Given the description of an element on the screen output the (x, y) to click on. 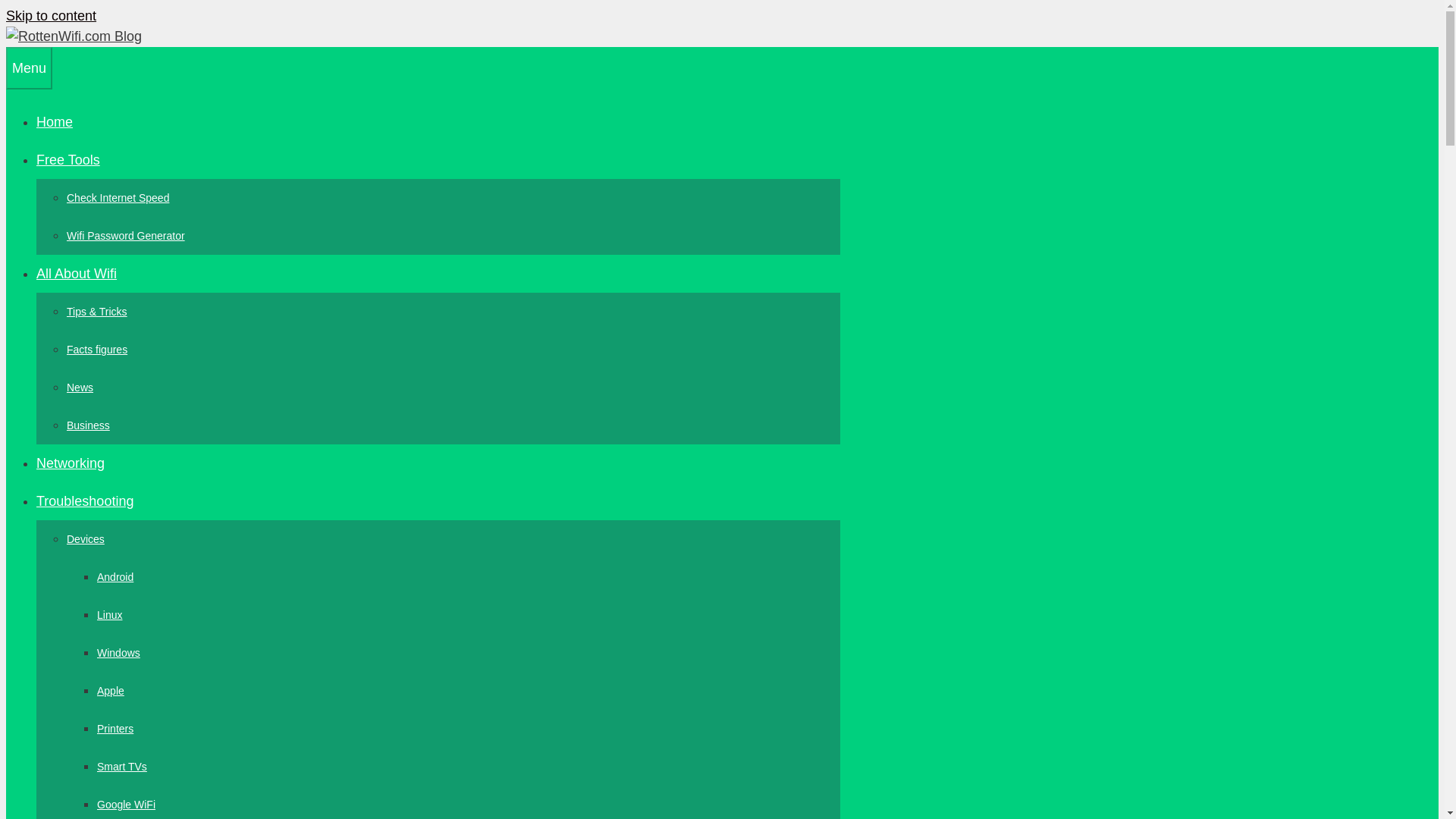
Linux (109, 614)
Windows (118, 653)
Home (54, 121)
Android (115, 576)
Wifi Password Generator (125, 235)
Facts figures (97, 349)
Check Internet Speed (117, 197)
Skip to content (50, 15)
All About Wifi (76, 273)
Smart TVs (122, 766)
Skip to content (50, 15)
Troubleshooting (84, 500)
Menu (28, 67)
Devices (85, 539)
Networking (70, 462)
